Given the description of an element on the screen output the (x, y) to click on. 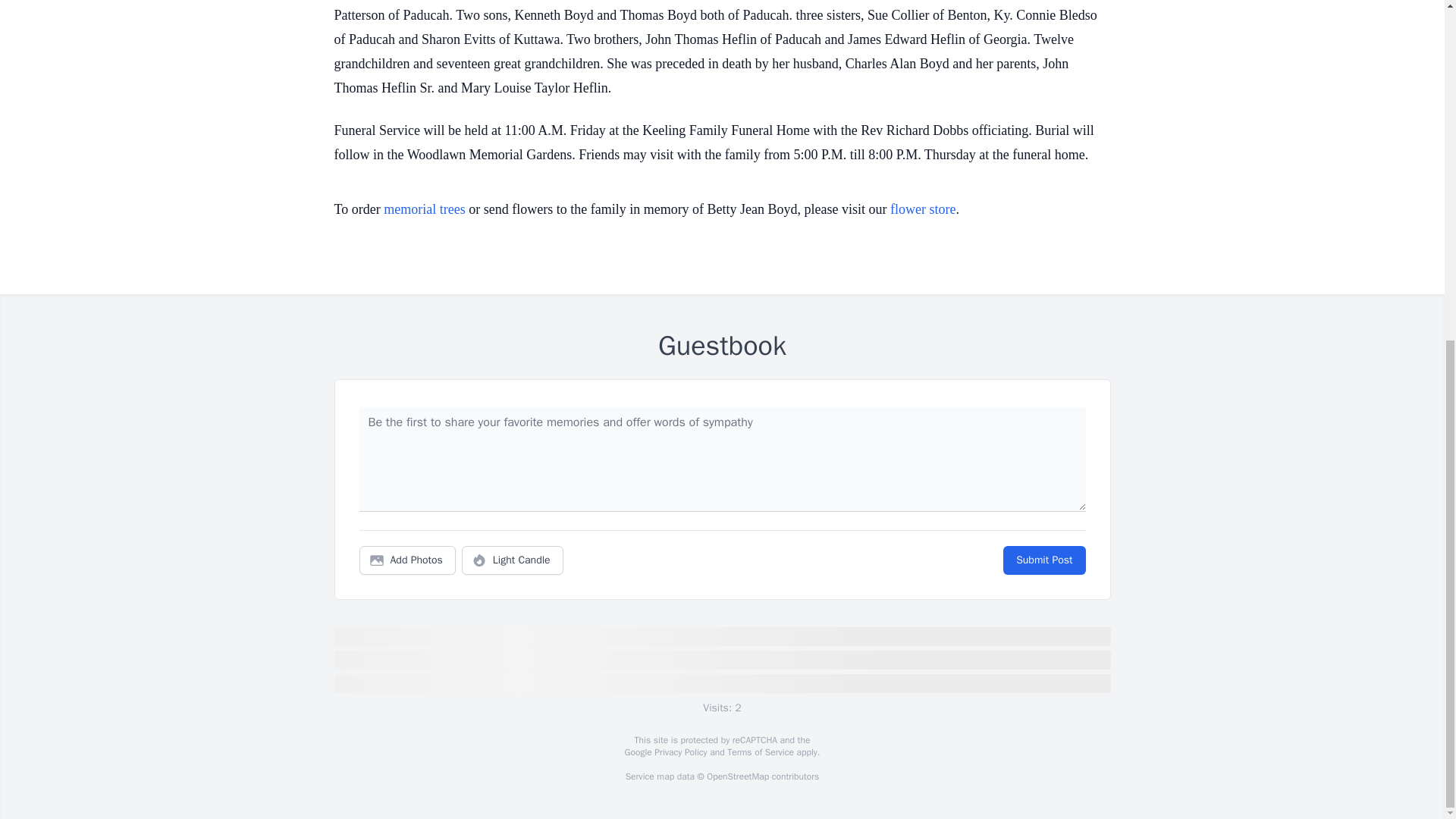
Add Photos (407, 560)
memorial trees (424, 209)
Privacy Policy (679, 752)
Terms of Service (759, 752)
flower store (922, 209)
OpenStreetMap (737, 776)
Light Candle (512, 560)
Submit Post (1043, 560)
